Given the description of an element on the screen output the (x, y) to click on. 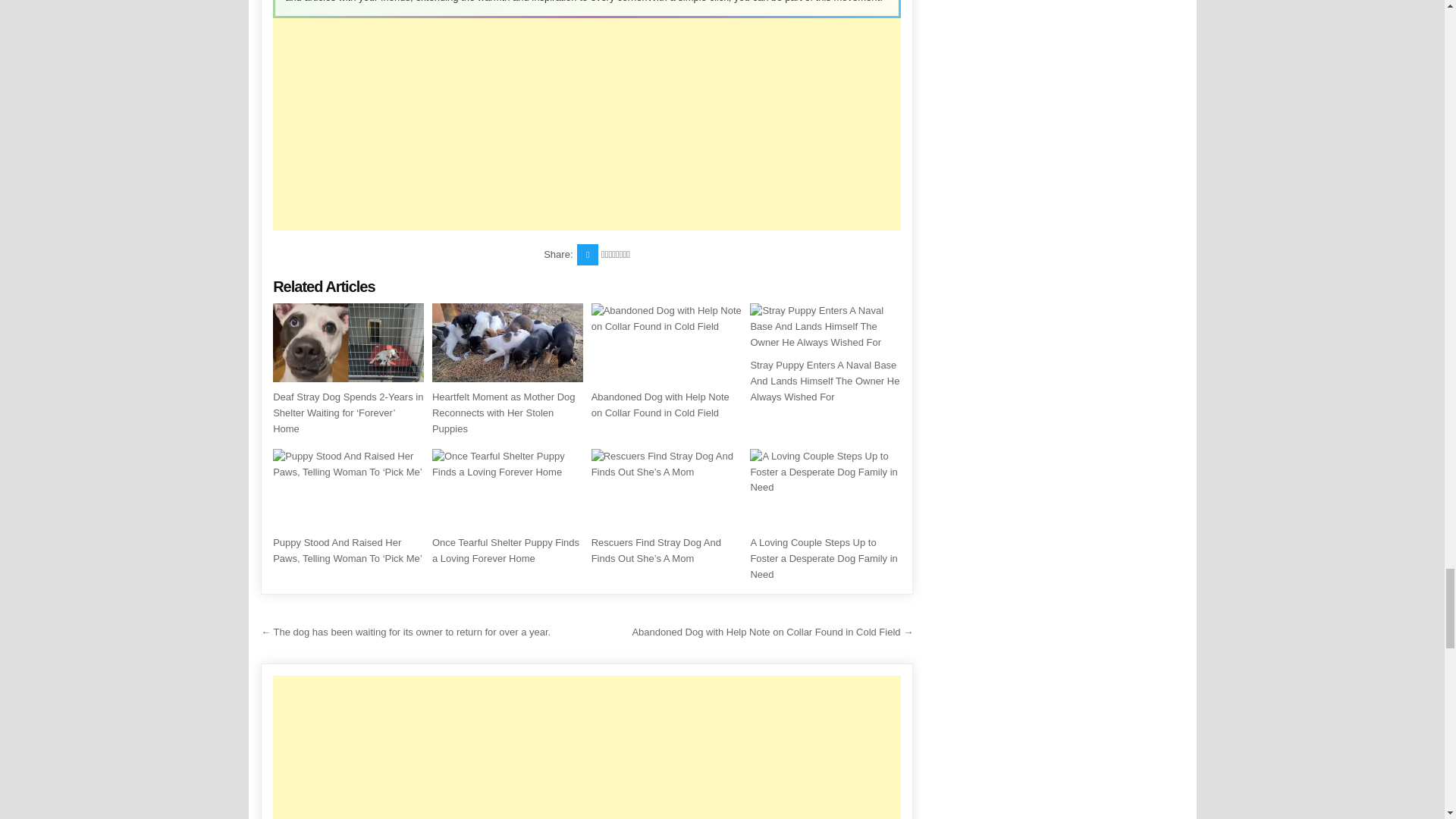
Abandoned Dog with Help Note on Collar Found in Cold Field (660, 404)
